Given the description of an element on the screen output the (x, y) to click on. 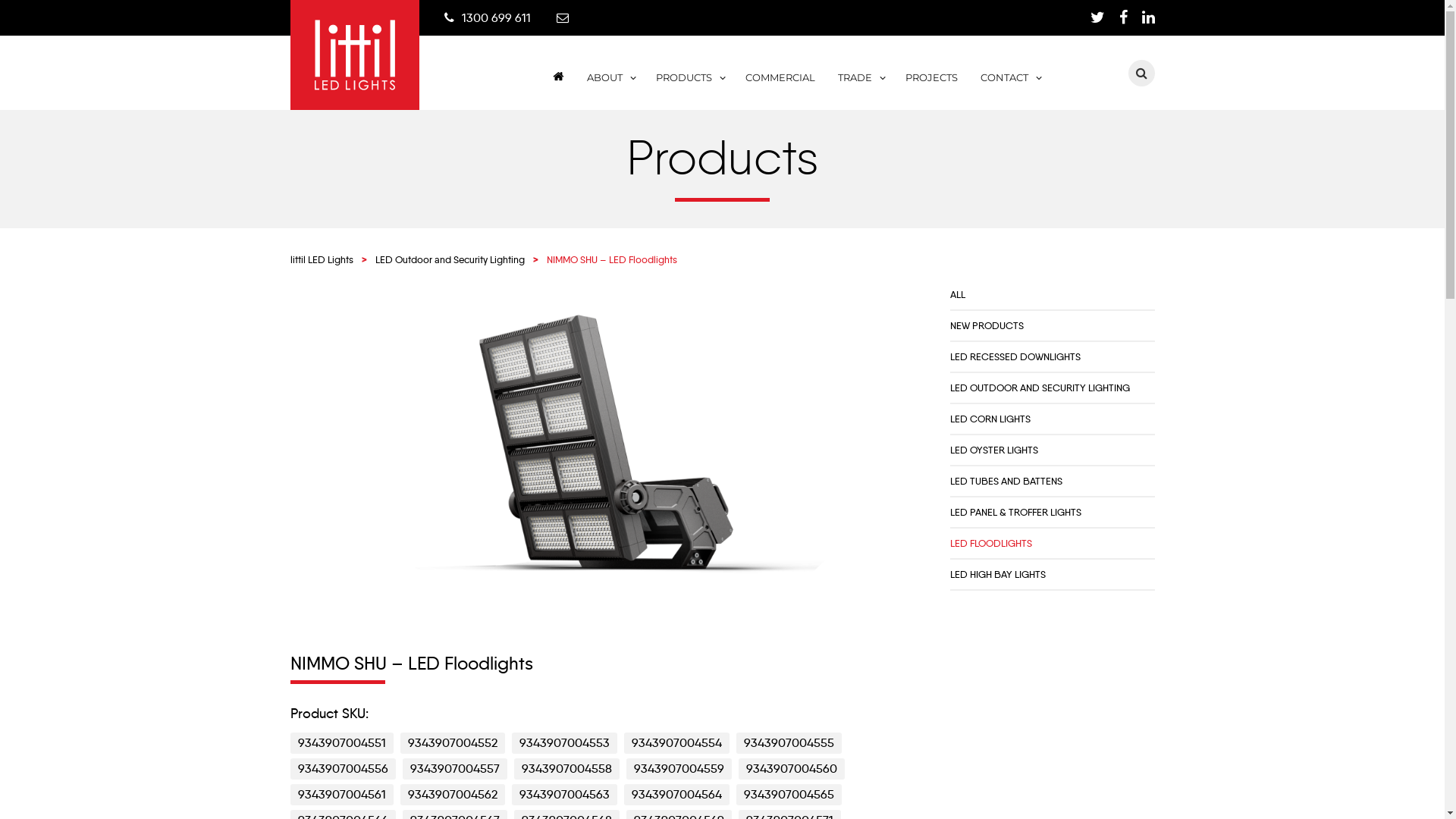
HOME Element type: text (555, 89)
LED HIGH BAY LIGHTS Element type: text (996, 573)
LED CORN LIGHTS Element type: text (989, 418)
LED PANEL & TROFFER LIGHTS Element type: text (1014, 511)
LED OUTDOOR AND SECURITY LIGHTING Element type: text (1039, 387)
PRODUCTS Element type: text (689, 86)
CONTACT Element type: text (1009, 86)
littil LED Lights Element type: text (320, 259)
LED FLOODLIGHTS Element type: text (990, 542)
ABOUT Element type: text (608, 86)
LED RECESSED DOWNLIGHTS Element type: text (1014, 356)
ALL Element type: text (956, 294)
LED Outdoor and Security Lighting Element type: text (449, 259)
LED TUBES AND BATTENS Element type: text (1005, 480)
COMMERCIAL Element type: text (780, 86)
1300 699 611 Element type: text (495, 17)
TRADE Element type: text (860, 86)
LED OYSTER LIGHTS Element type: text (993, 449)
PROJECTS Element type: text (931, 86)
NEW PRODUCTS Element type: text (985, 325)
